Given the description of an element on the screen output the (x, y) to click on. 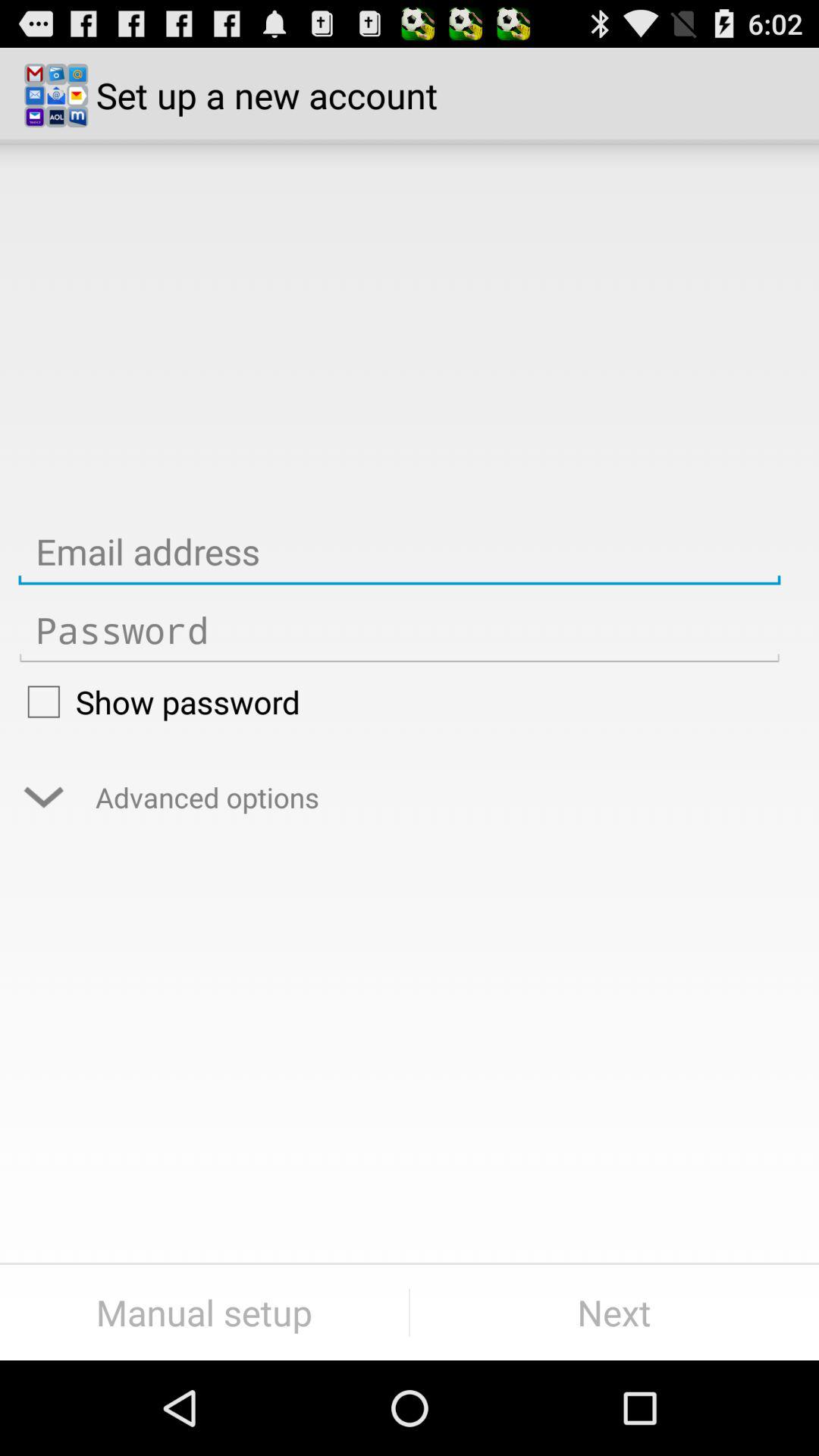
turn on item to the right of the manual setup (614, 1312)
